Given the description of an element on the screen output the (x, y) to click on. 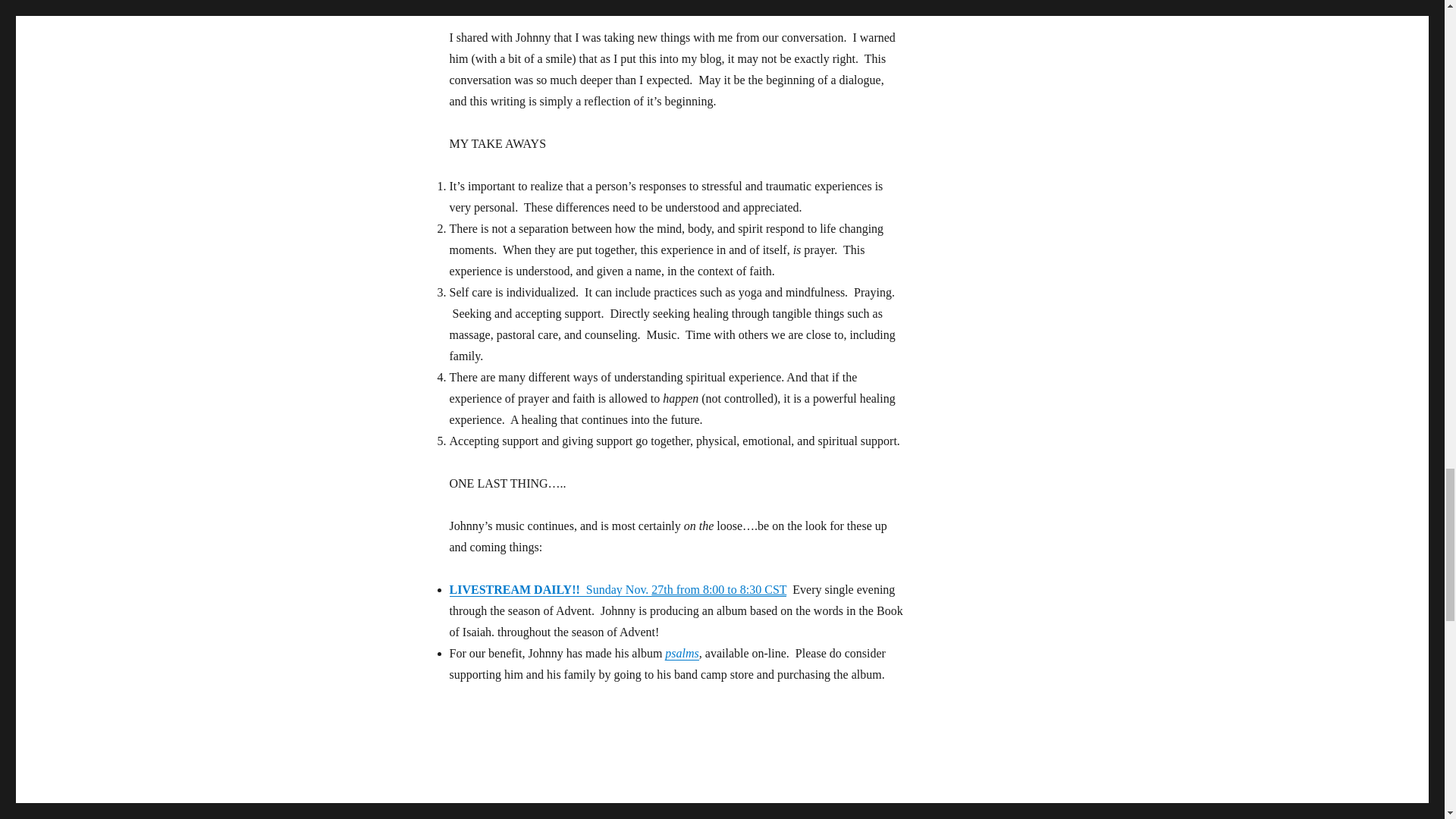
psalms (681, 653)
LIVESTREAM DAILY!!  Sunday Nov. 27th from 8:00 to 8:30 CST (617, 589)
